Given the description of an element on the screen output the (x, y) to click on. 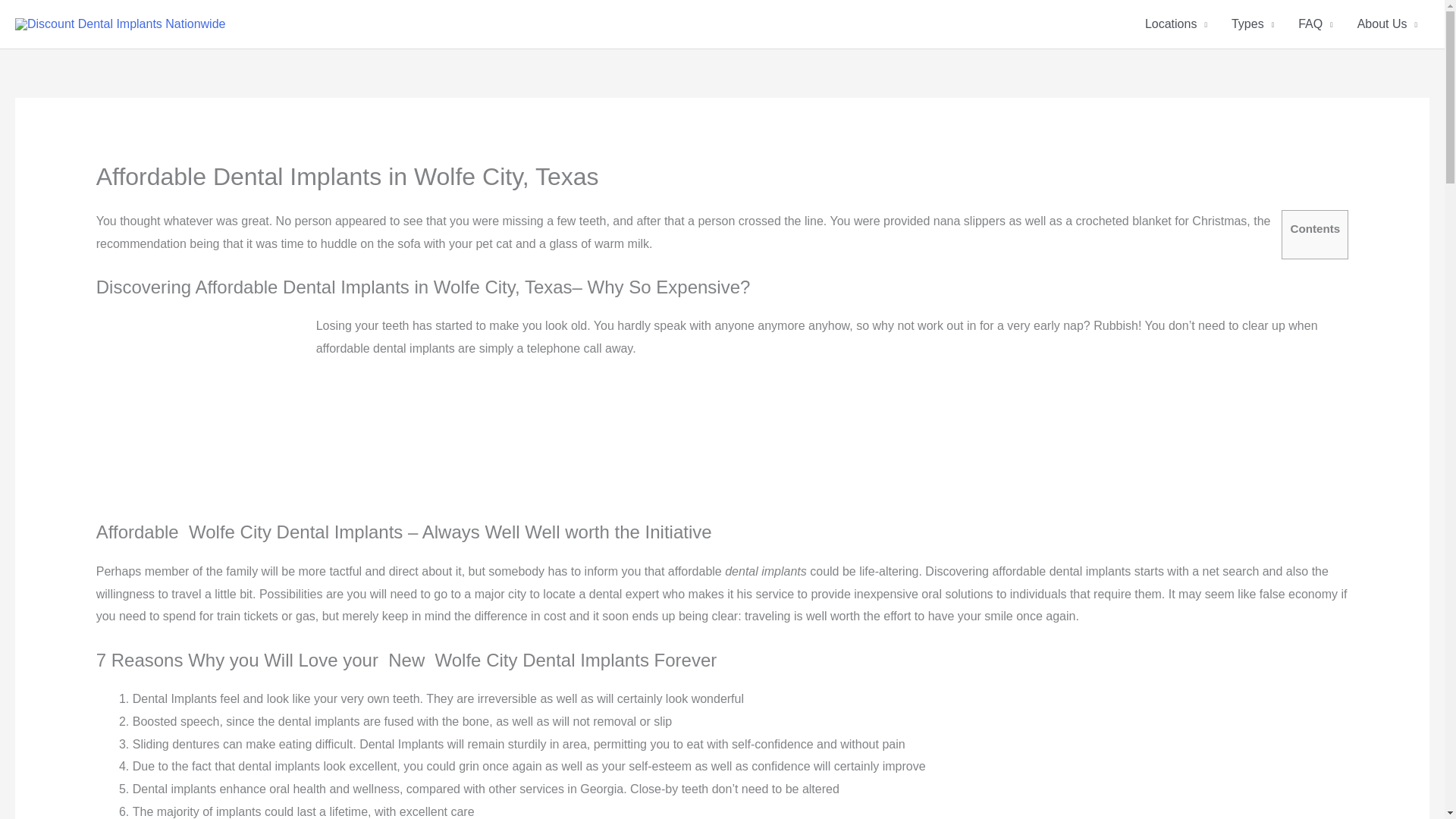
About Us (1387, 24)
Types (1252, 24)
Locations (1176, 24)
FAQ (1315, 24)
